Given the description of an element on the screen output the (x, y) to click on. 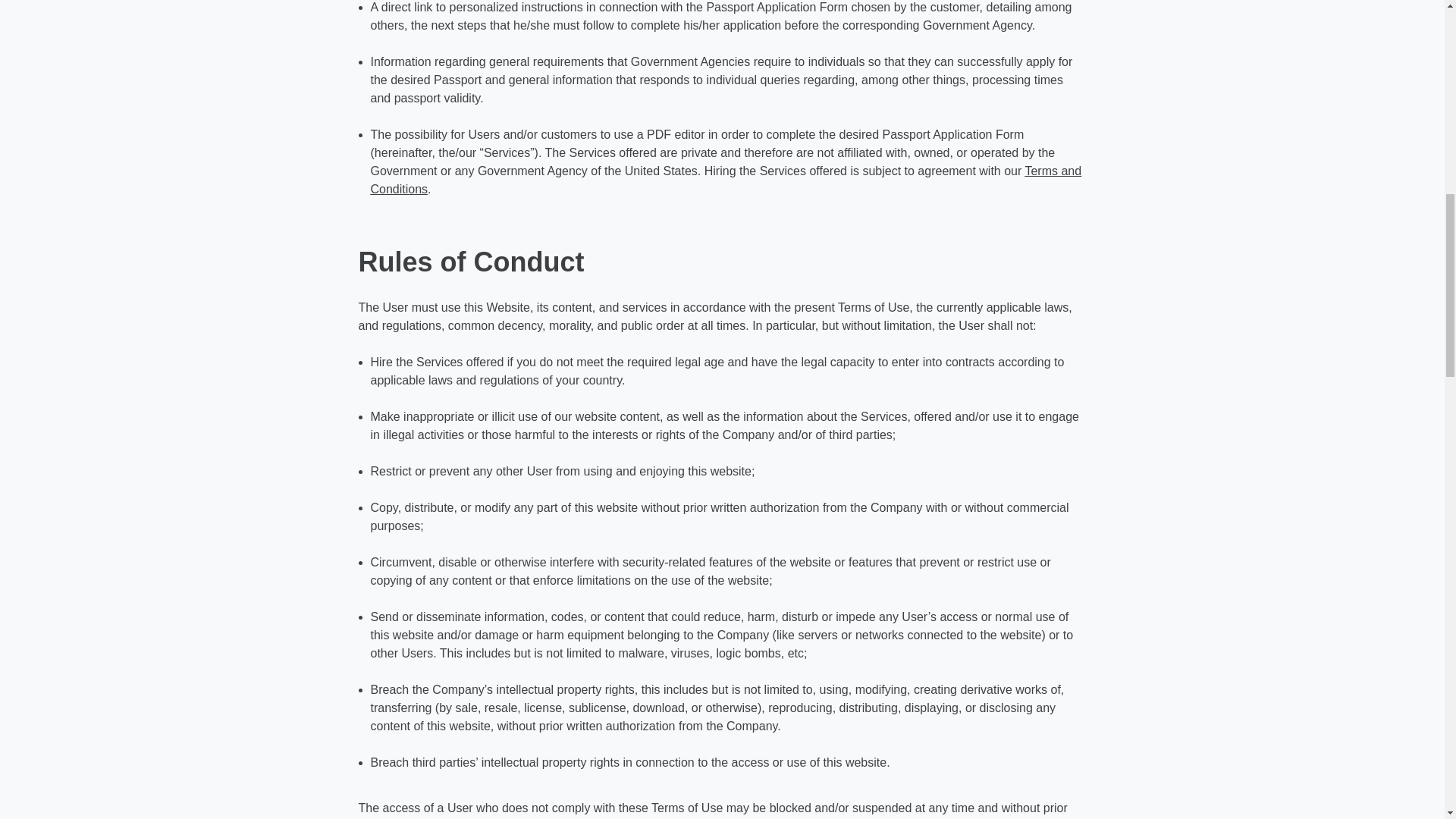
Terms and Conditions (725, 179)
